Given the description of an element on the screen output the (x, y) to click on. 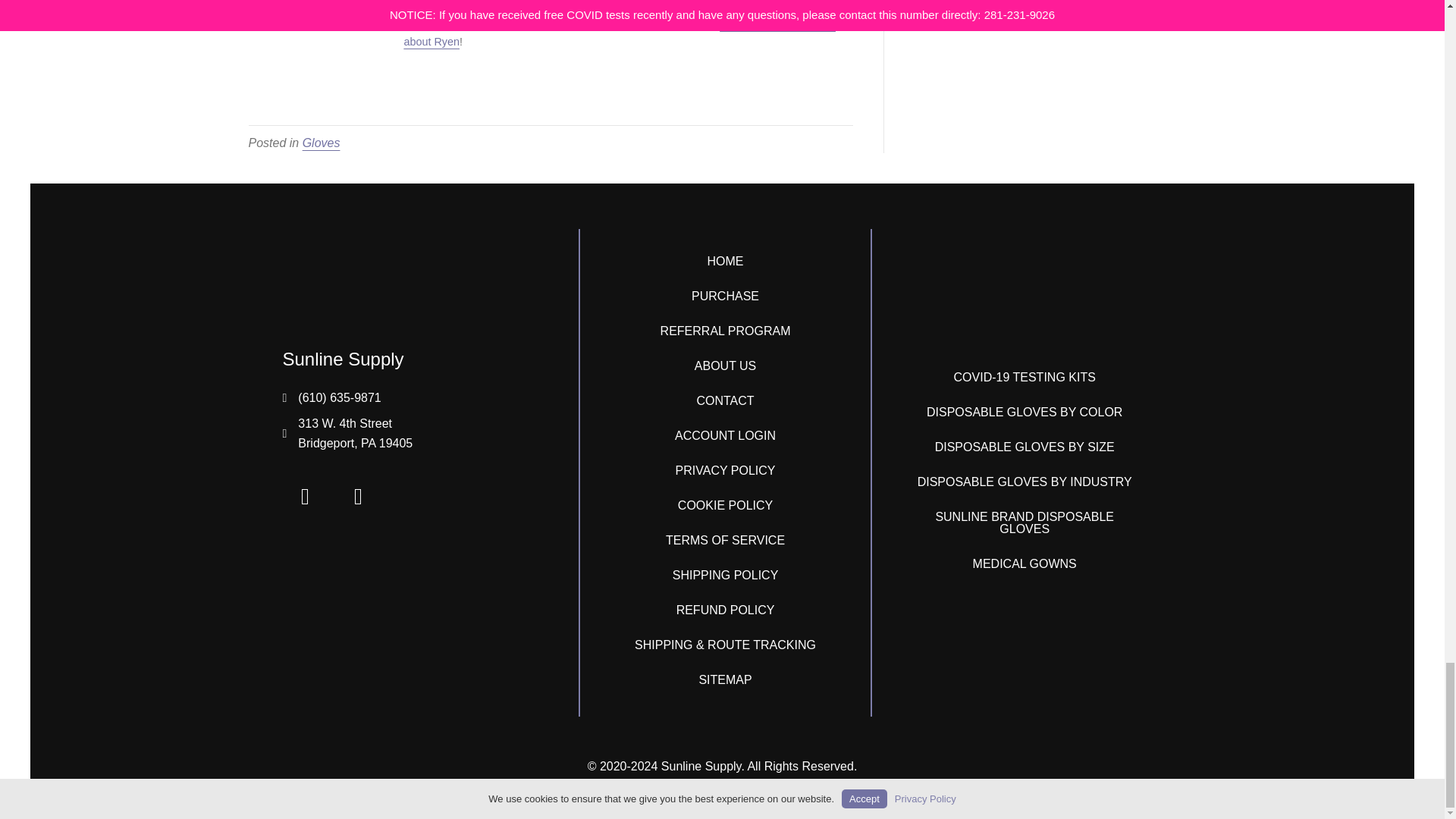
LinkedIn (357, 496)
Facebook (304, 496)
